Given the description of an element on the screen output the (x, y) to click on. 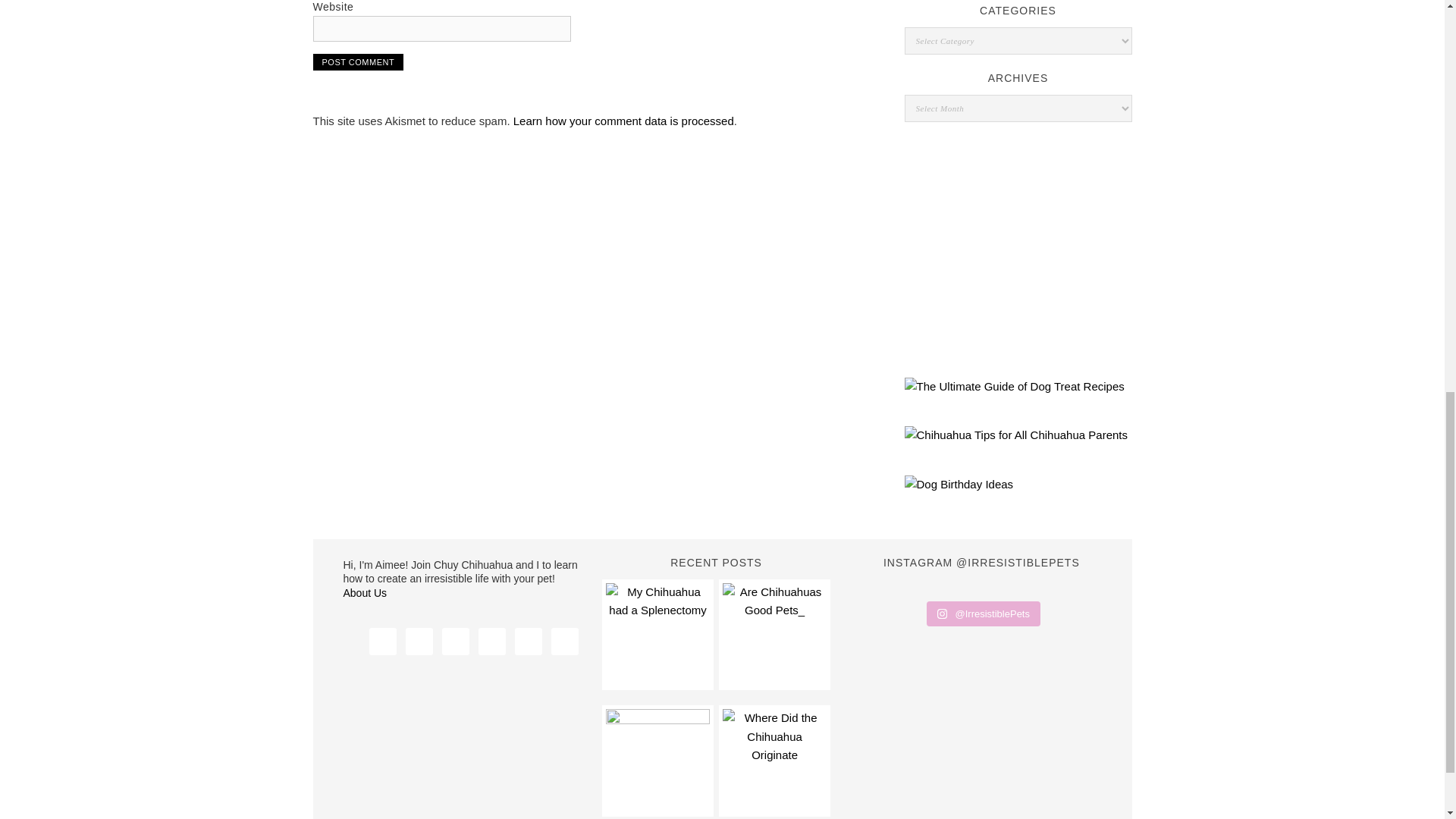
Where Did the Chihuahua Originate? (773, 760)
Are Chihuahuas Good Pets? (773, 634)
About Us (364, 592)
Post Comment (358, 62)
Post Comment (358, 62)
My Chihuahua Had a Splenectomy (657, 634)
Learn how your comment data is processed (623, 120)
